Given the description of an element on the screen output the (x, y) to click on. 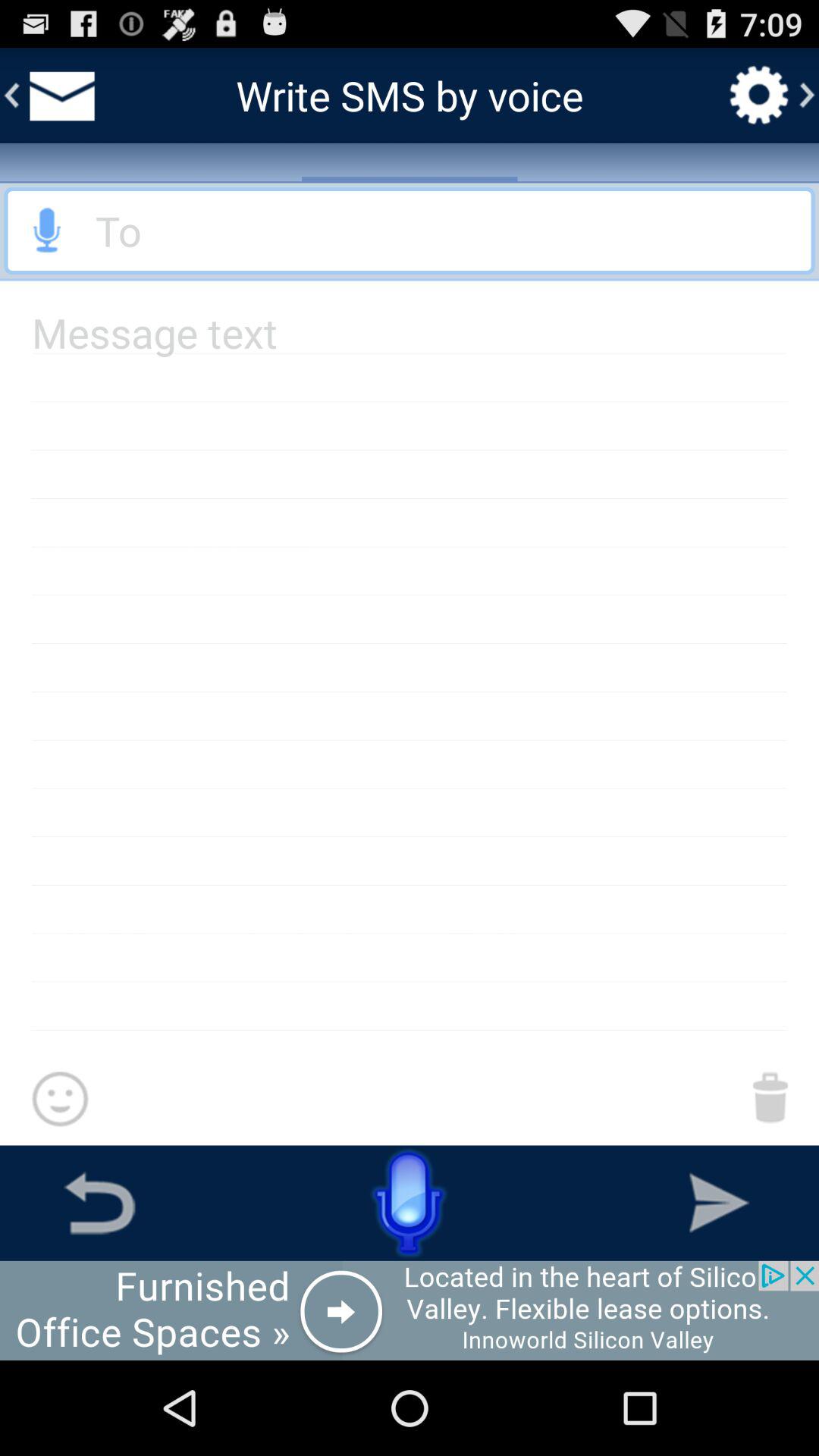
microphone (409, 230)
